Given the description of an element on the screen output the (x, y) to click on. 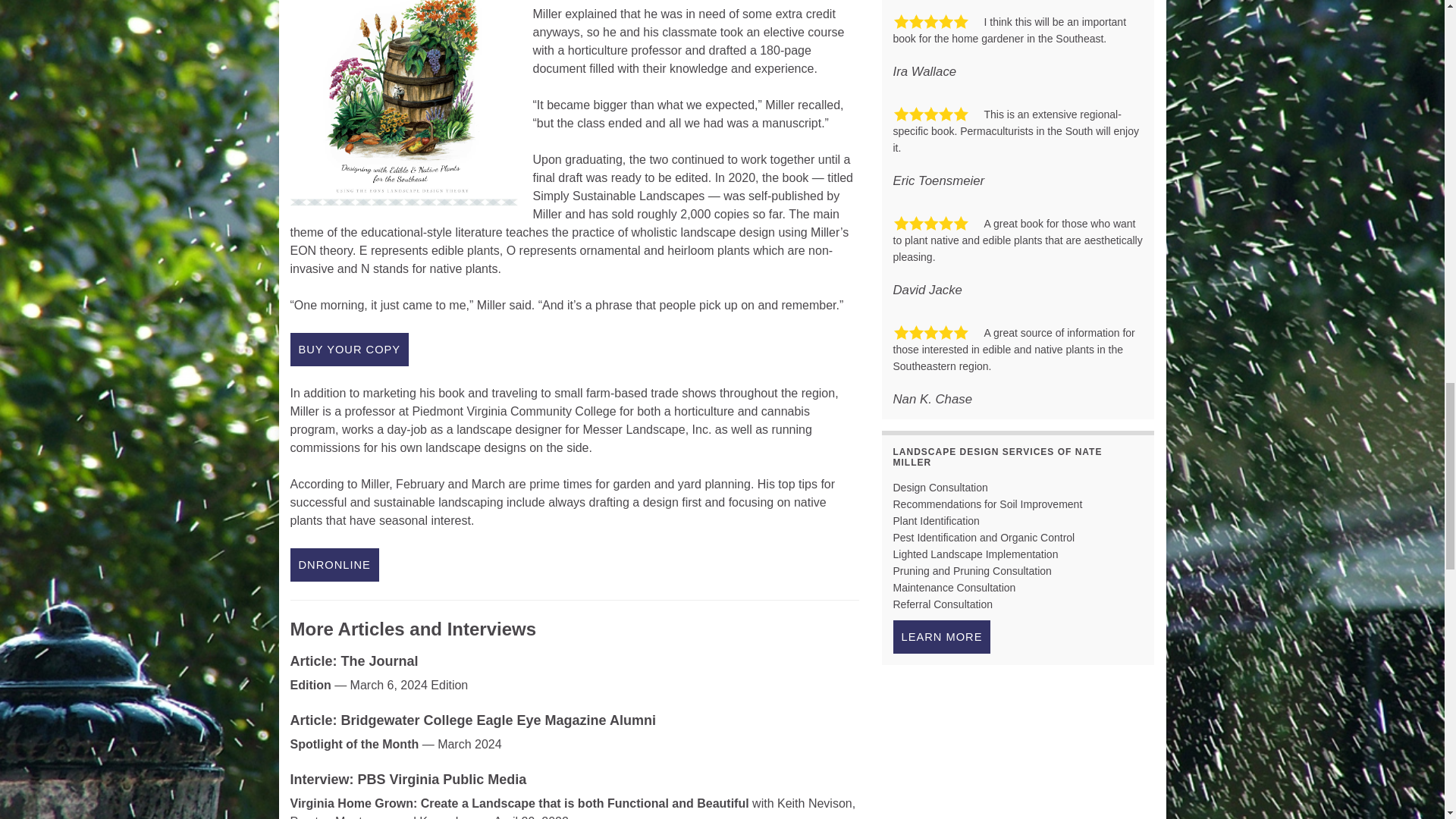
BUY YOUR COPY (349, 349)
LEARN MORE (942, 636)
DNRONLINE (333, 564)
